Given the description of an element on the screen output the (x, y) to click on. 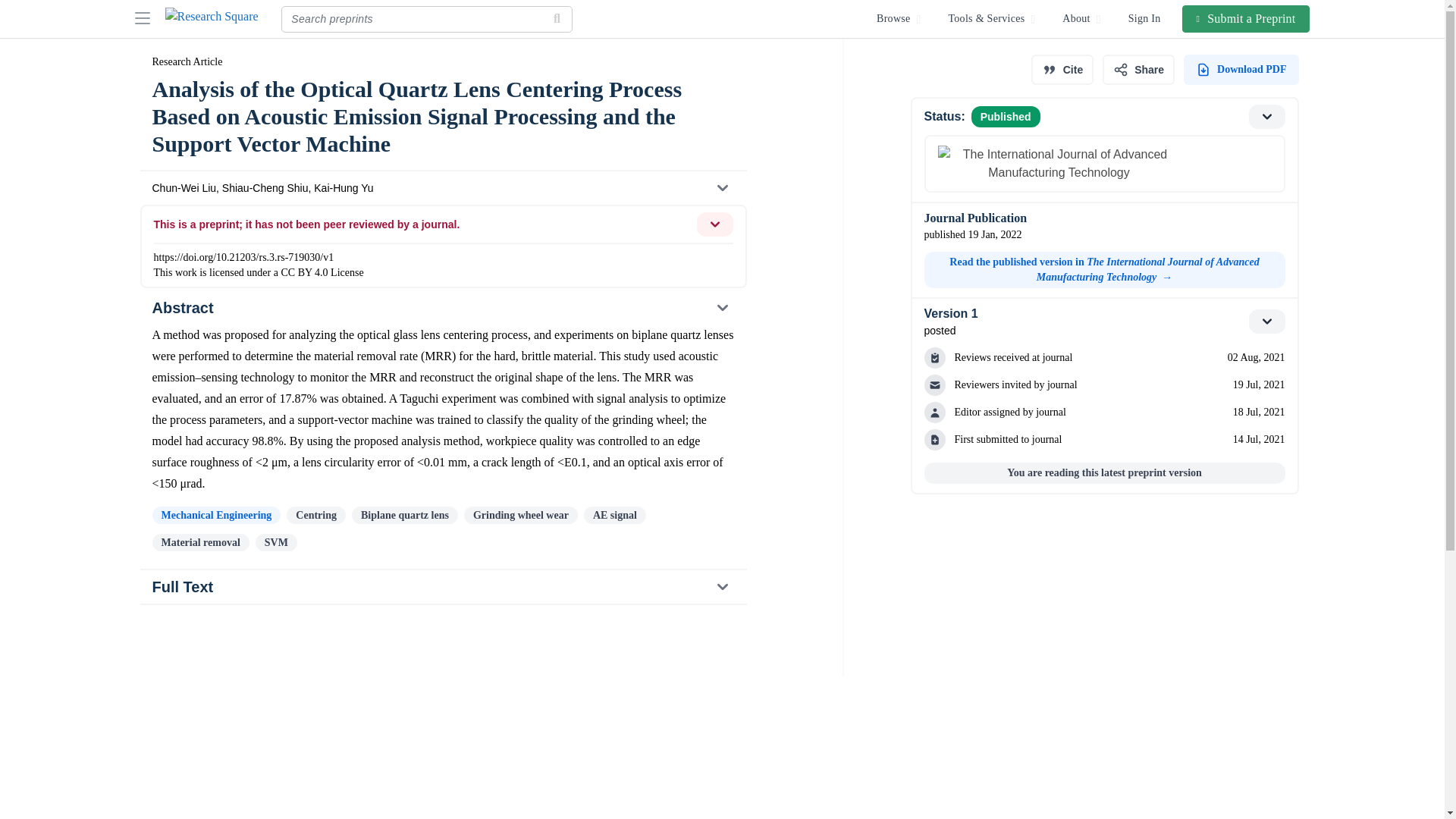
Chun-Wei Liu, Shiau-Cheng Shiu, Kai-Hung Yu (442, 187)
Share (1138, 69)
Mechanical Engineering (1103, 320)
Full Text (216, 515)
Abstract (442, 586)
Submit a Preprint (442, 307)
Sign In (1246, 18)
